Given the description of an element on the screen output the (x, y) to click on. 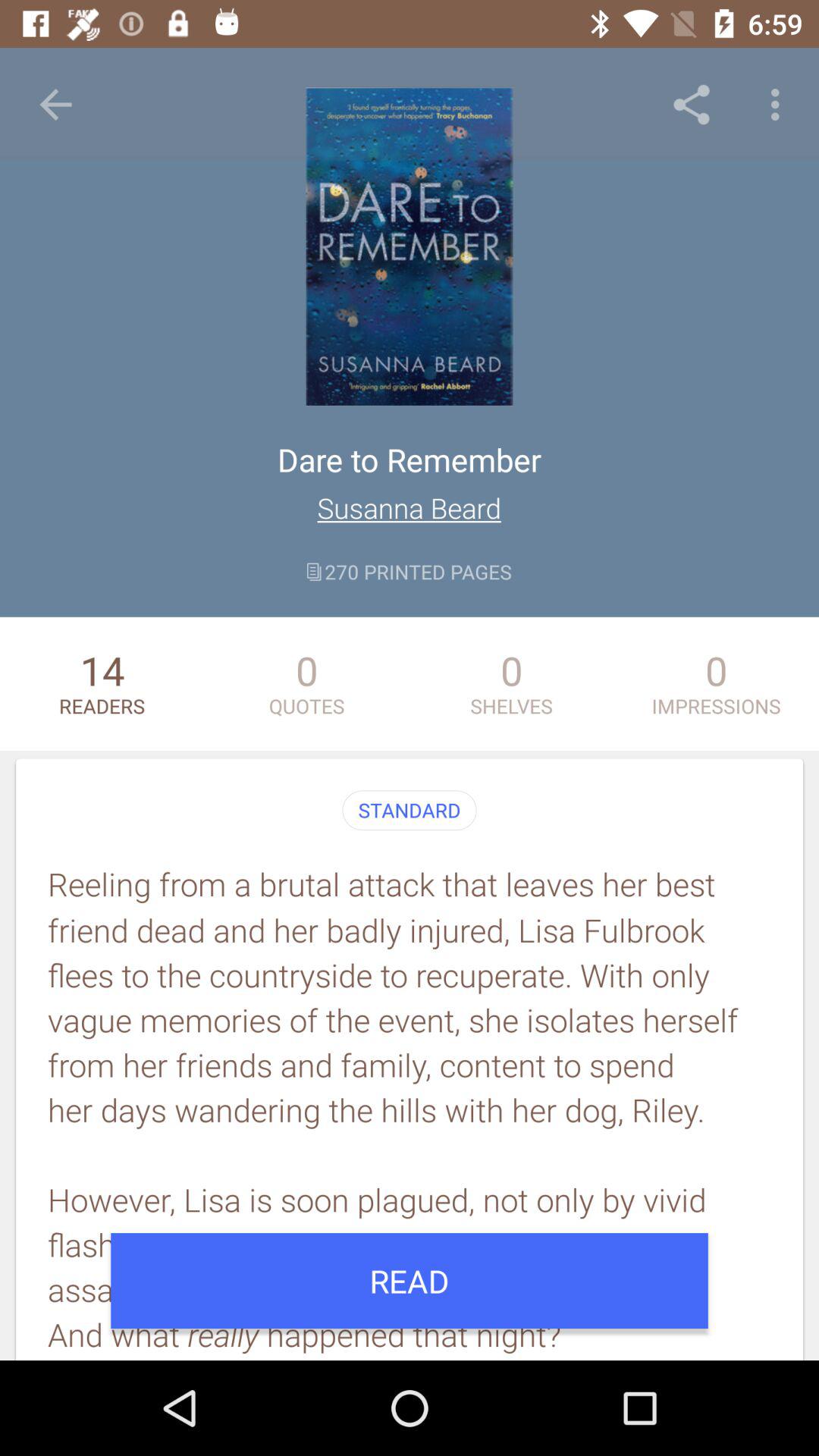
open icon above dare to remember icon (691, 104)
